Given the description of an element on the screen output the (x, y) to click on. 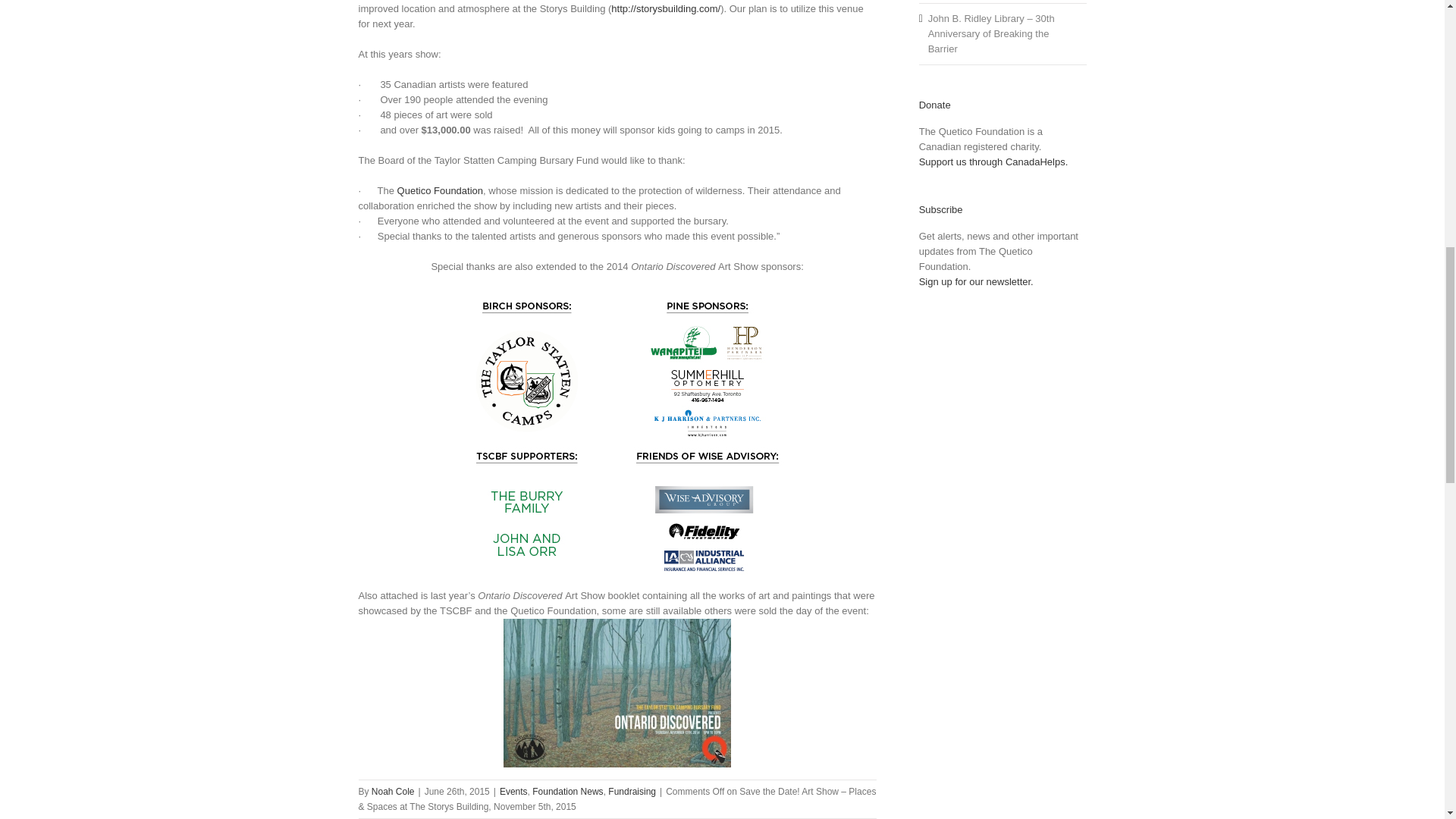
Posts by Noah Cole (392, 791)
